Given the description of an element on the screen output the (x, y) to click on. 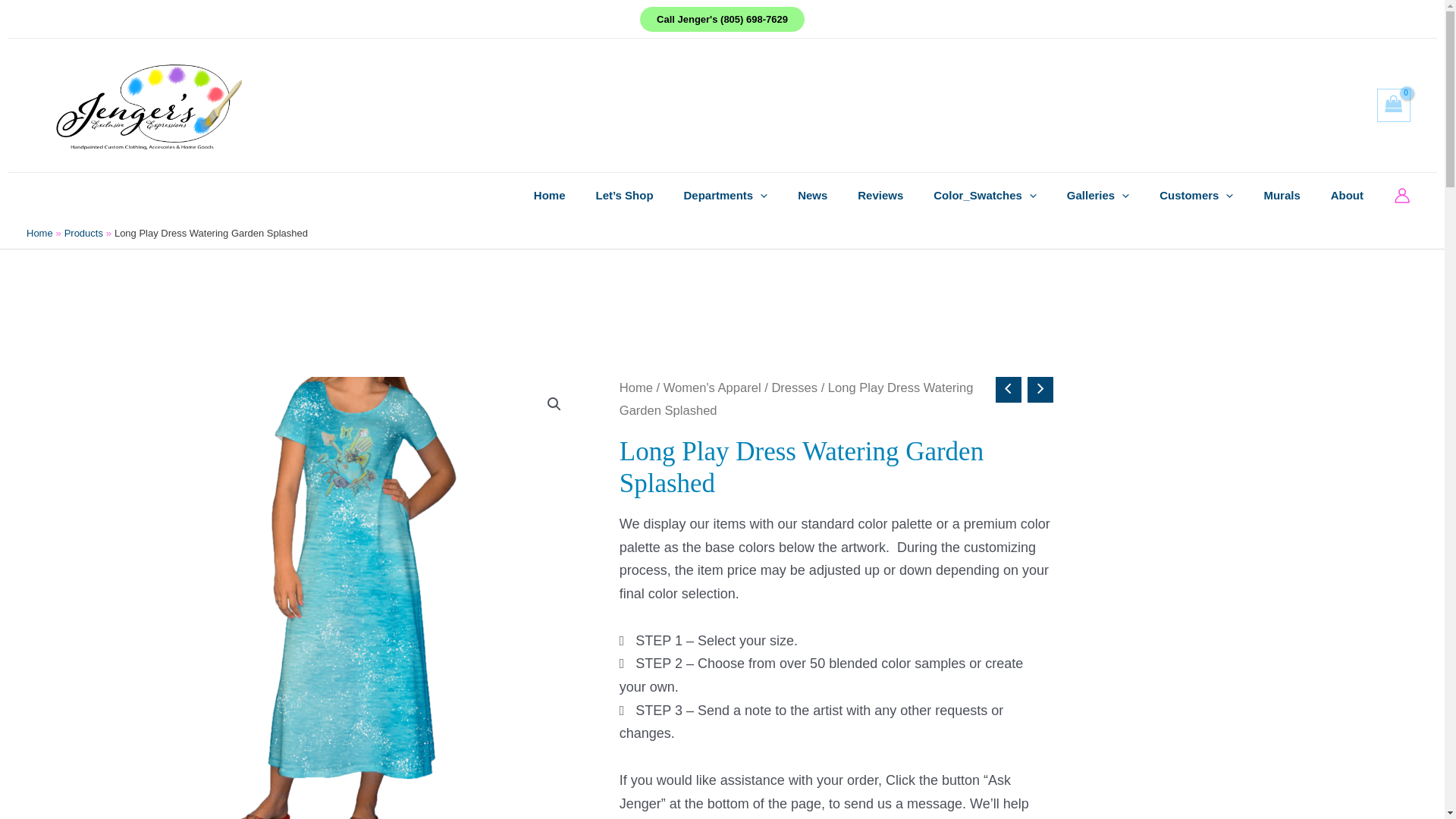
Home (549, 195)
Departments (725, 195)
